Given the description of an element on the screen output the (x, y) to click on. 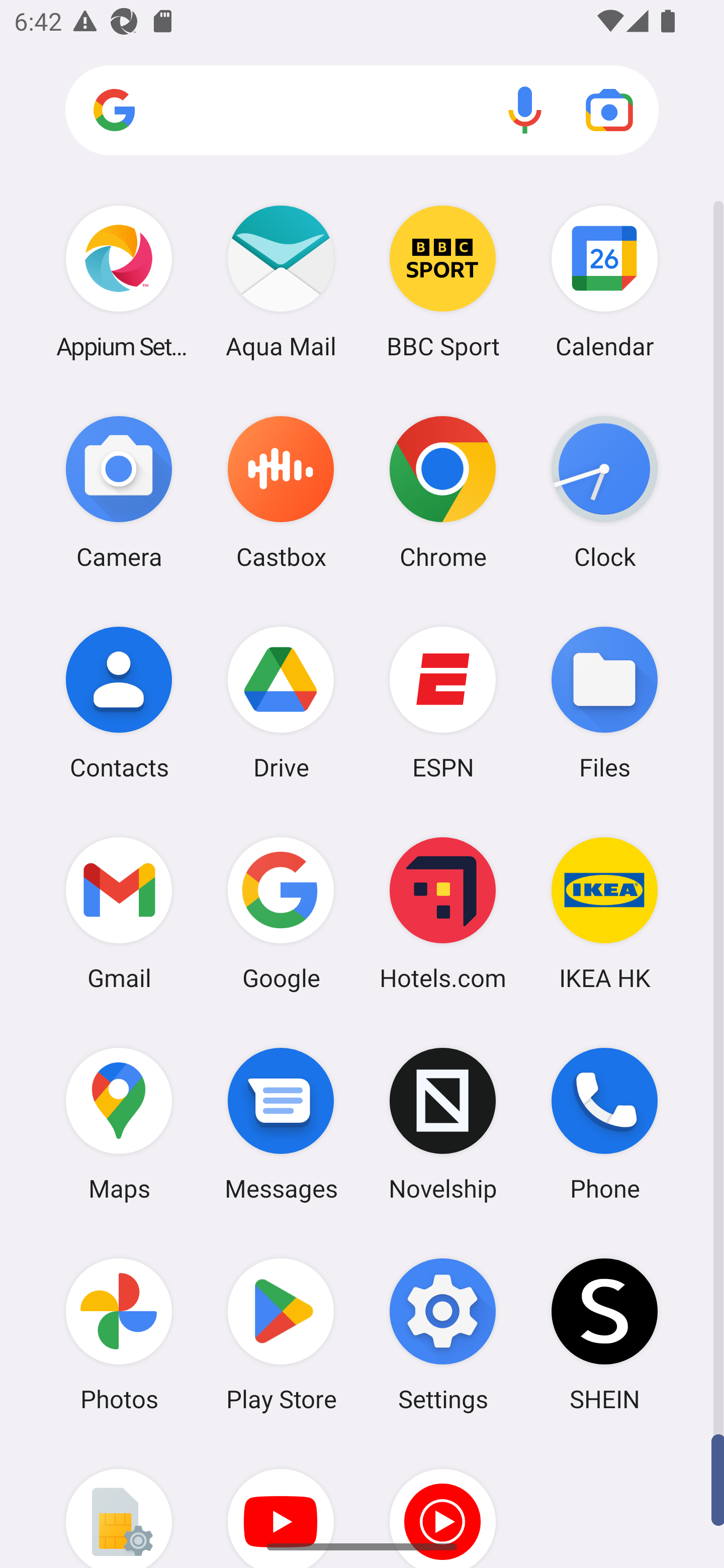
Search apps, web and more (361, 110)
Voice search (524, 109)
Google Lens (608, 109)
Appium Settings (118, 281)
Aqua Mail (280, 281)
BBC Sport (443, 281)
Calendar (604, 281)
Camera (118, 492)
Castbox (280, 492)
Chrome (443, 492)
Clock (604, 492)
Contacts (118, 702)
Drive (280, 702)
ESPN (443, 702)
Files (604, 702)
Gmail (118, 913)
Google (280, 913)
Hotels.com (443, 913)
IKEA HK (604, 913)
Maps (118, 1124)
Messages (280, 1124)
Novelship (443, 1124)
Phone (604, 1124)
Photos (118, 1334)
Play Store (280, 1334)
Settings (443, 1334)
SHEIN (604, 1334)
TMoble (118, 1503)
YouTube (280, 1503)
YT Music (443, 1503)
